Given the description of an element on the screen output the (x, y) to click on. 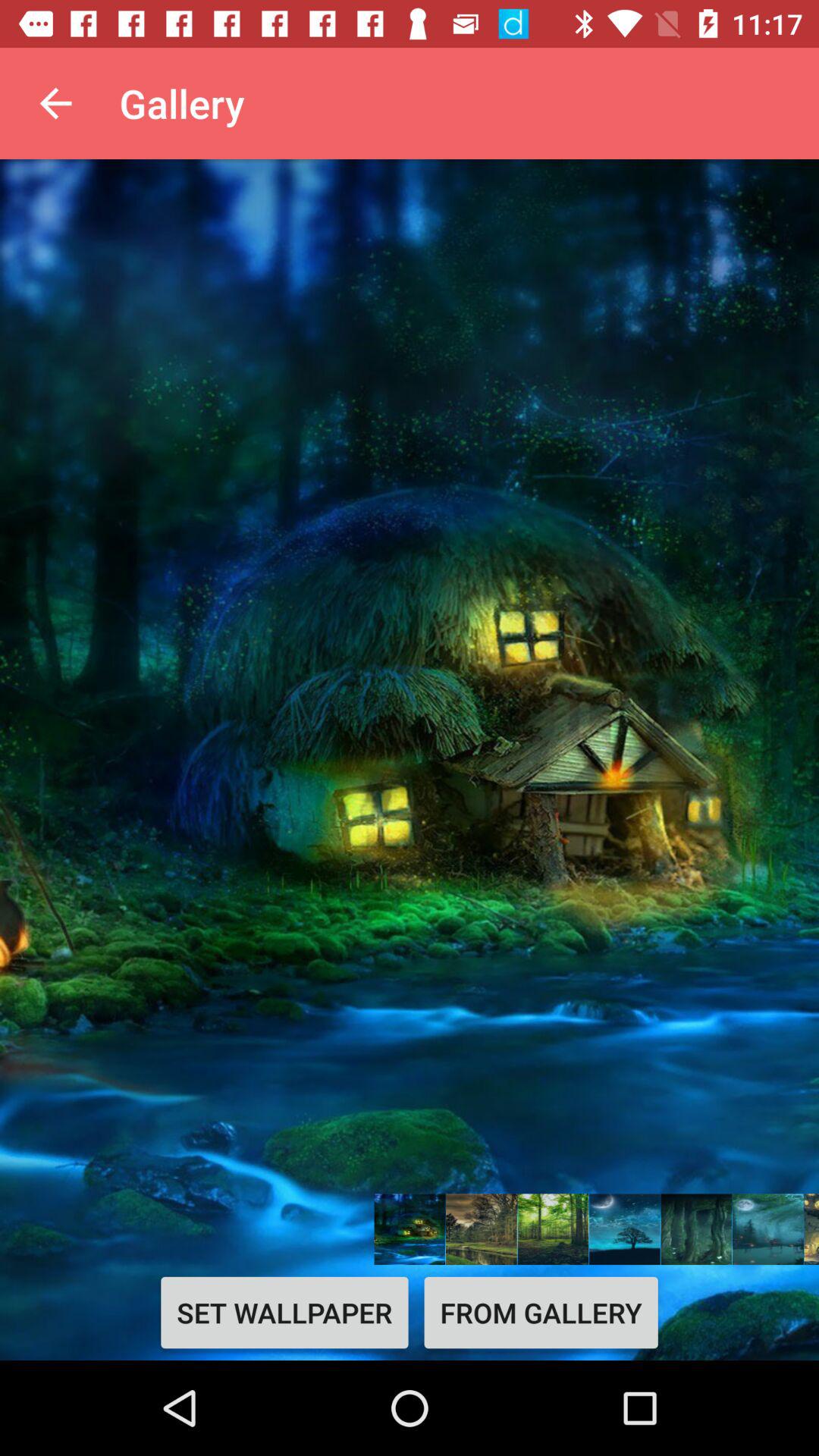
swipe until the from gallery item (541, 1312)
